Given the description of an element on the screen output the (x, y) to click on. 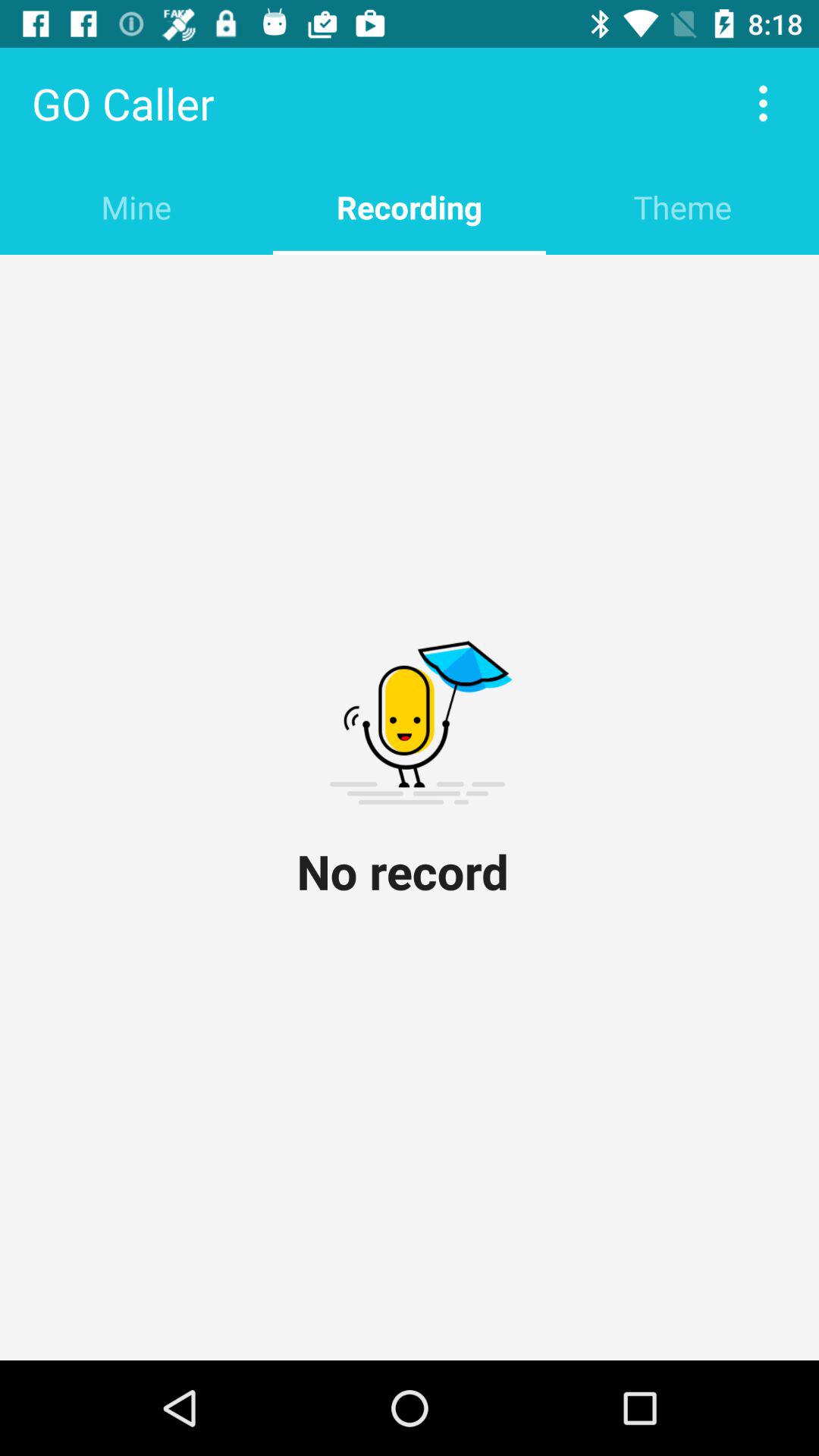
turn on the icon next to go caller (763, 103)
